Given the description of an element on the screen output the (x, y) to click on. 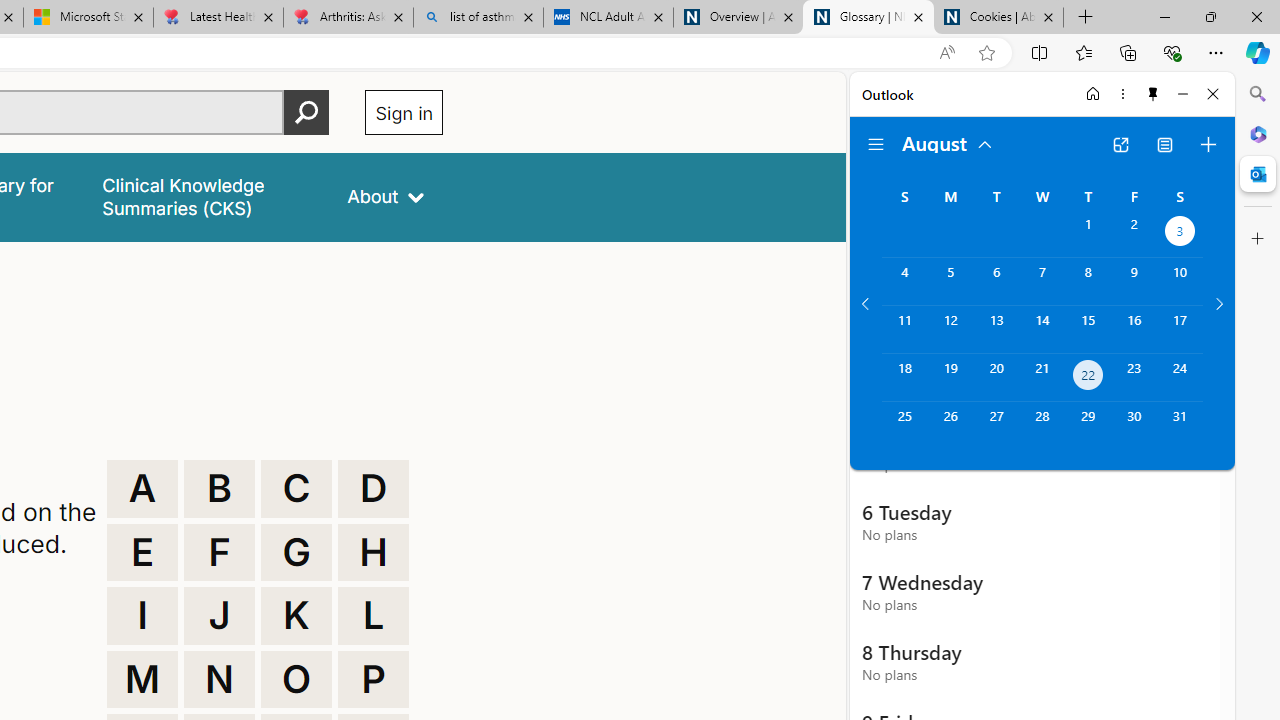
Monday, August 26, 2024.  (950, 425)
H (373, 551)
Create event (1208, 144)
Thursday, August 29, 2024.  (1088, 425)
F (219, 551)
I (142, 615)
Saturday, August 3, 2024. Date selected.  (1180, 233)
P (373, 679)
B (219, 488)
